Given the description of an element on the screen output the (x, y) to click on. 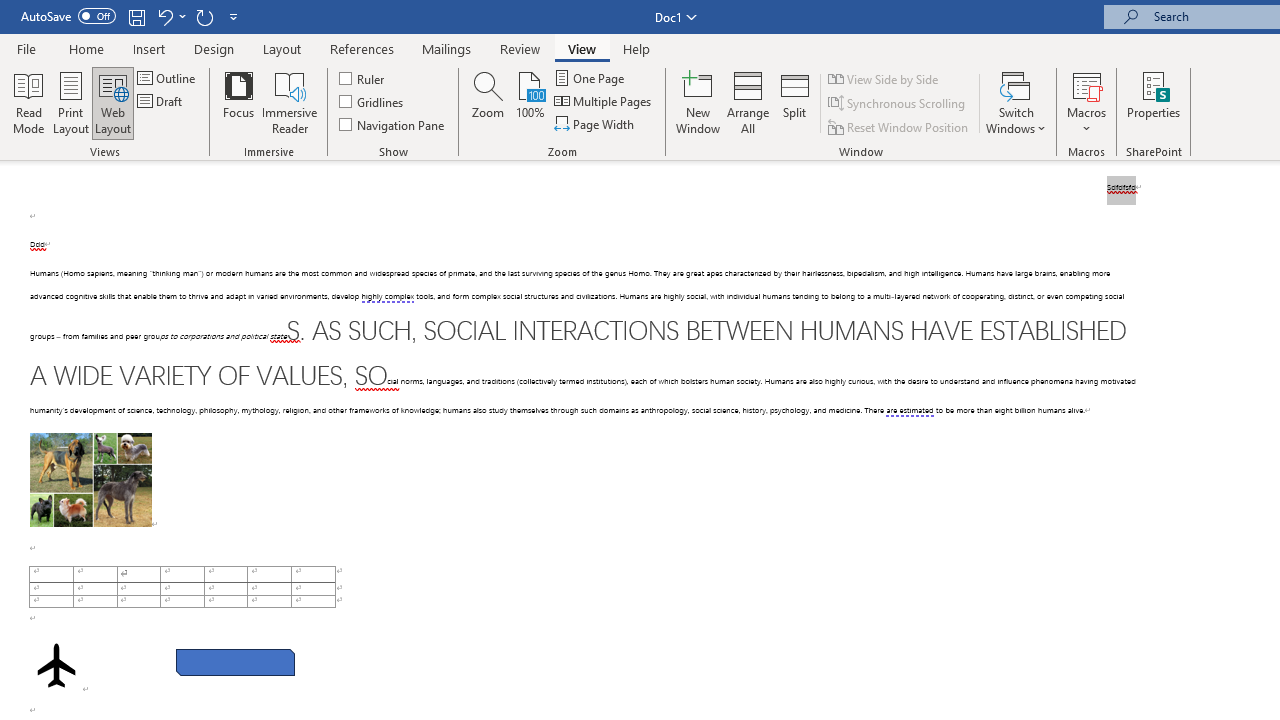
100% (529, 102)
Repeat Paragraph Alignment (204, 15)
